Given the description of an element on the screen output the (x, y) to click on. 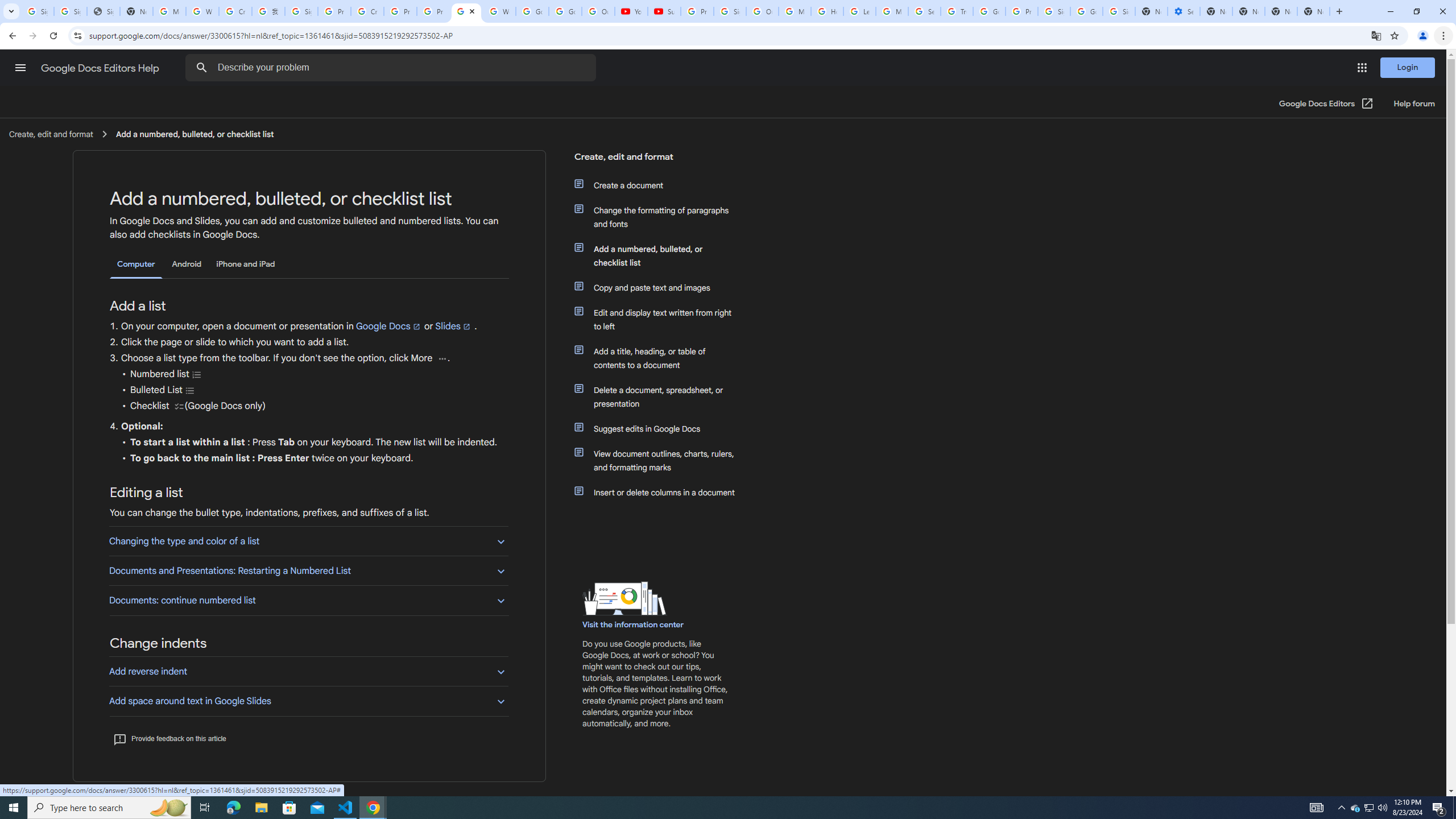
Suggest edits in Google Docs (661, 428)
Documents: continue numbered list (308, 600)
Create your Google Account (235, 11)
Documents and Presentations: Restarting a Numbered List (308, 570)
Change the formatting of paragraphs and fonts (661, 217)
Changing the type and color of a list (308, 540)
Google Account (564, 11)
Provide feedback on this article (169, 738)
Android (186, 263)
